Given the description of an element on the screen output the (x, y) to click on. 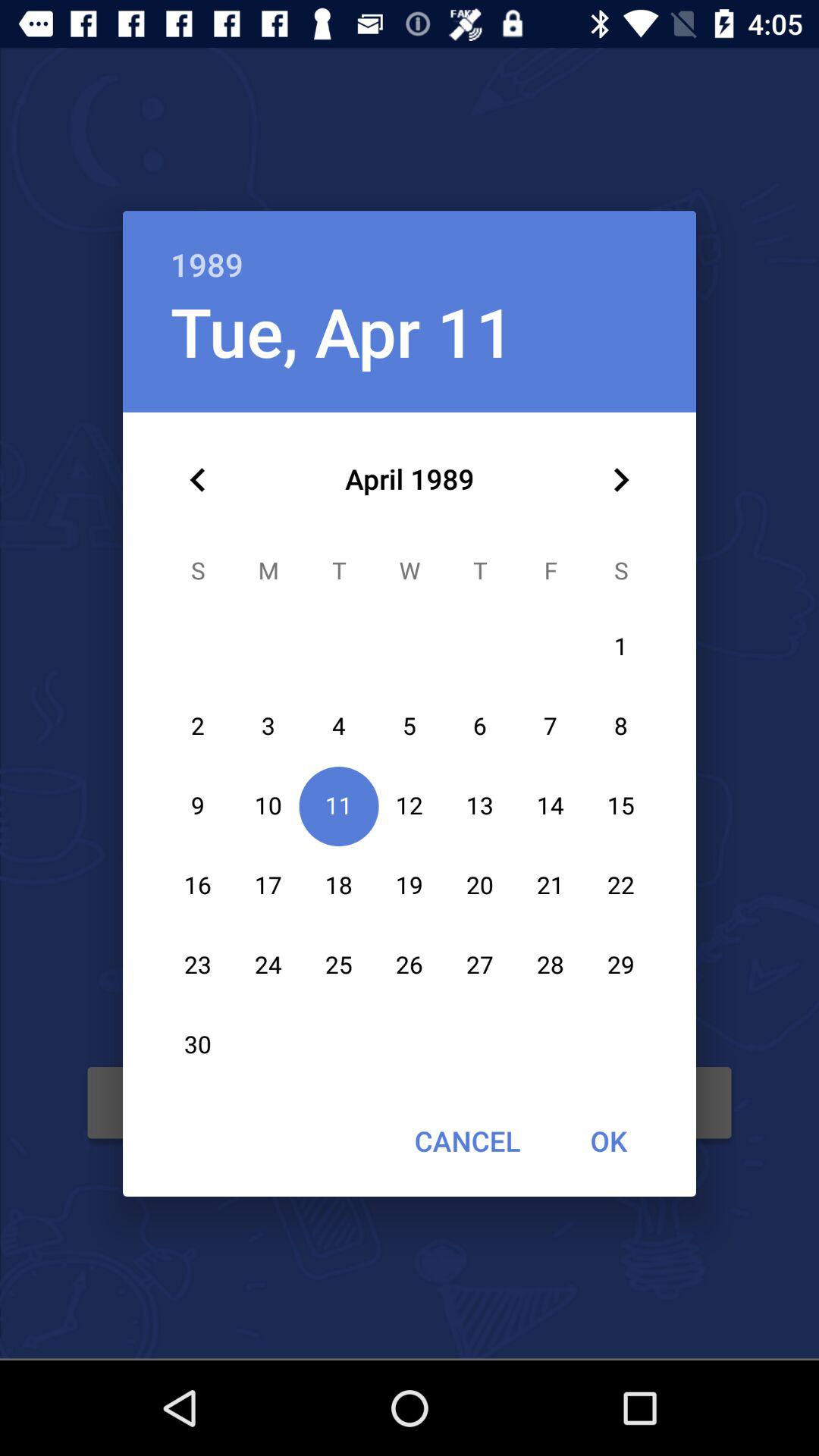
swipe to ok (608, 1140)
